Given the description of an element on the screen output the (x, y) to click on. 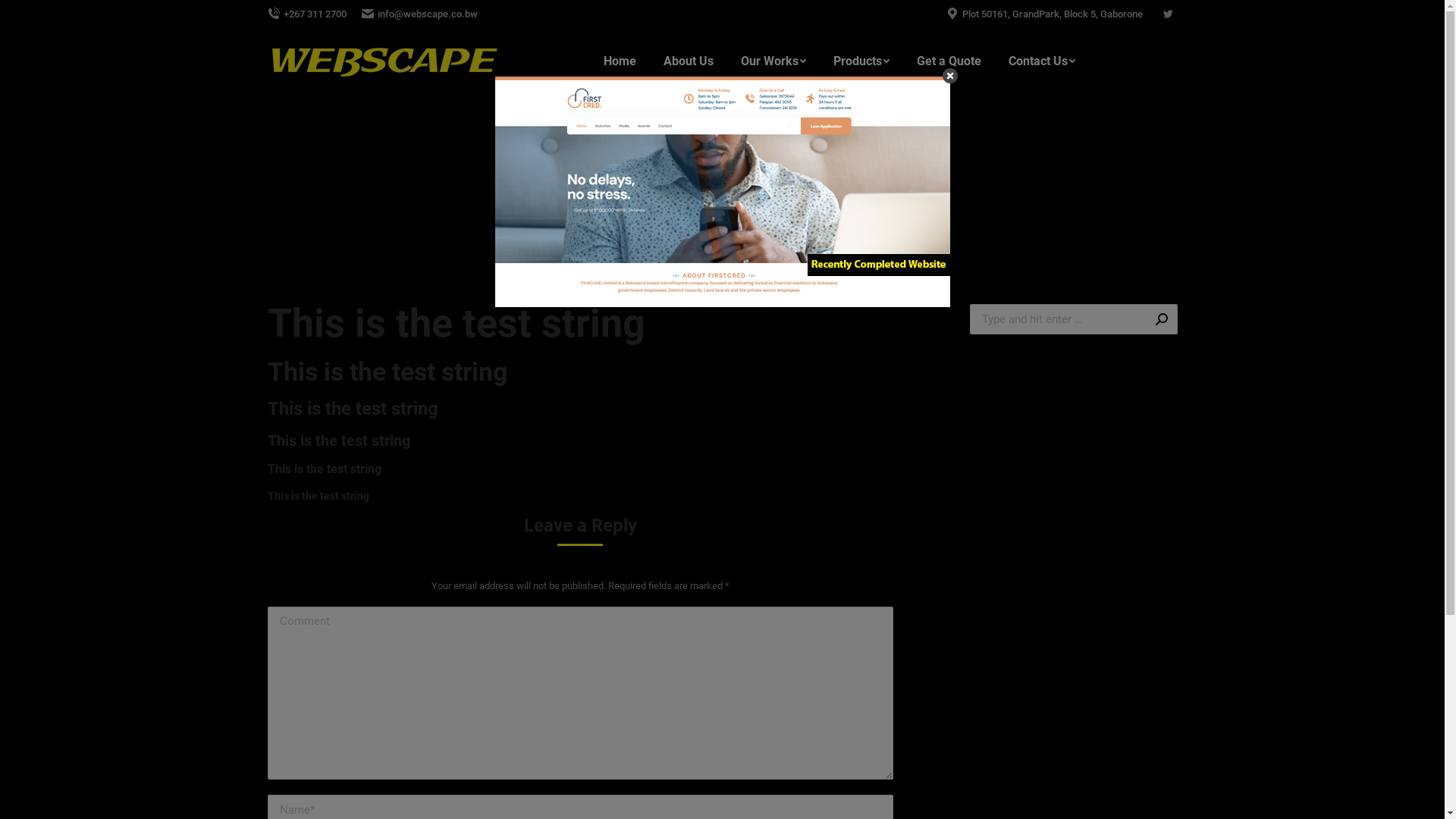
Home Element type: text (619, 60)
Products Element type: text (860, 60)
Go! Element type: text (1154, 319)
Contact Us Element type: text (1041, 60)
Get a Quote Element type: text (948, 60)
About Us Element type: text (687, 60)
Home Element type: text (711, 191)
Post Comment Element type: text (50, 15)
Twitter Element type: text (1166, 13)
Our Works Element type: text (772, 60)
